Given the description of an element on the screen output the (x, y) to click on. 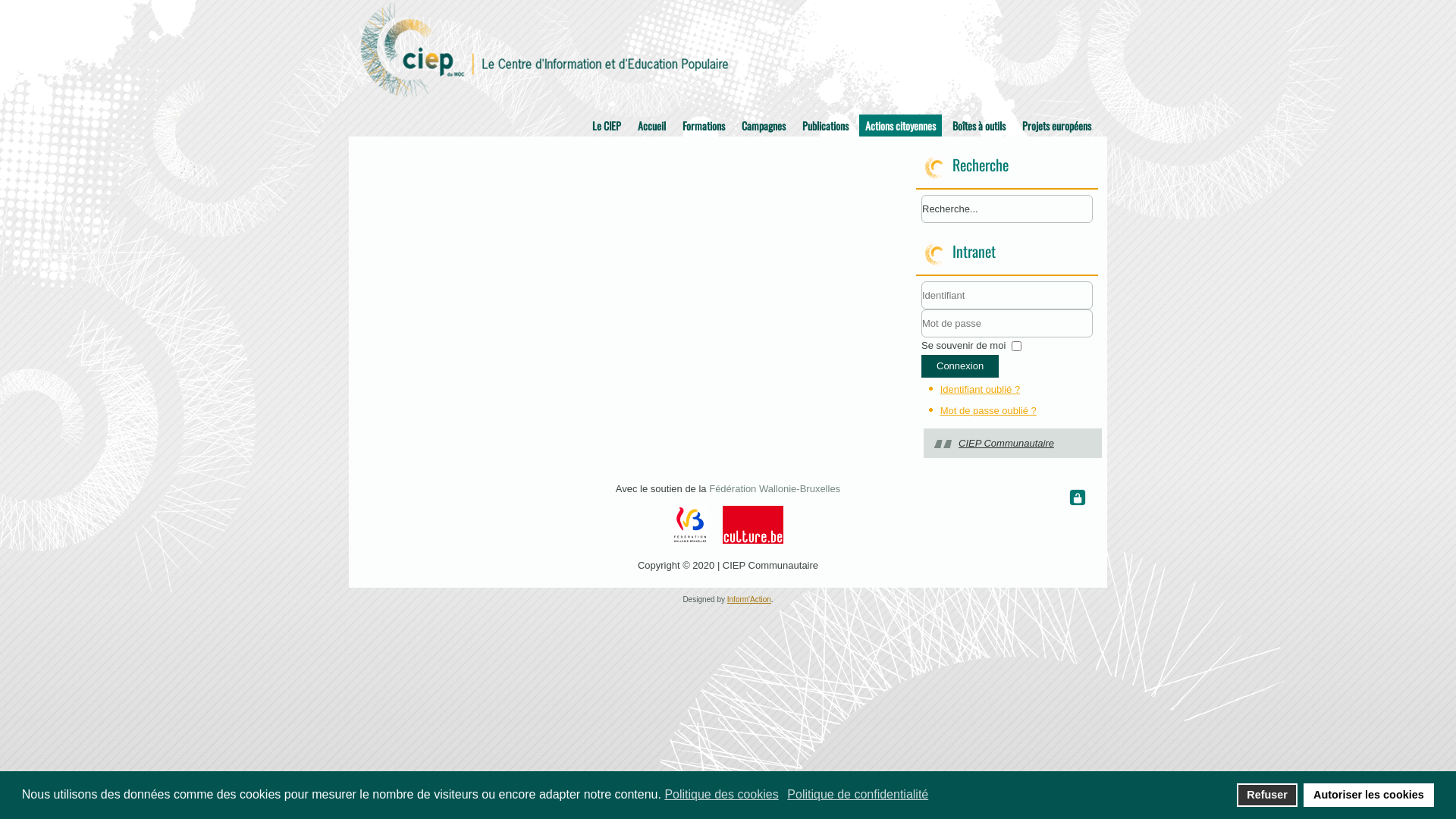
Actions citoyennes Element type: text (900, 125)
Accueil Element type: text (651, 125)
Connexion Element type: text (959, 365)
Publications Element type: text (825, 125)
Le CIEP Element type: text (606, 125)
CIEP Communautaire Element type: text (1006, 442)
Campagnes Element type: text (763, 125)
Refuser Element type: text (1267, 794)
Autoriser les cookies Element type: text (1368, 794)
Formations Element type: text (703, 125)
Inform'Action Element type: text (749, 598)
Politique des cookies Element type: text (722, 794)
